Given the description of an element on the screen output the (x, y) to click on. 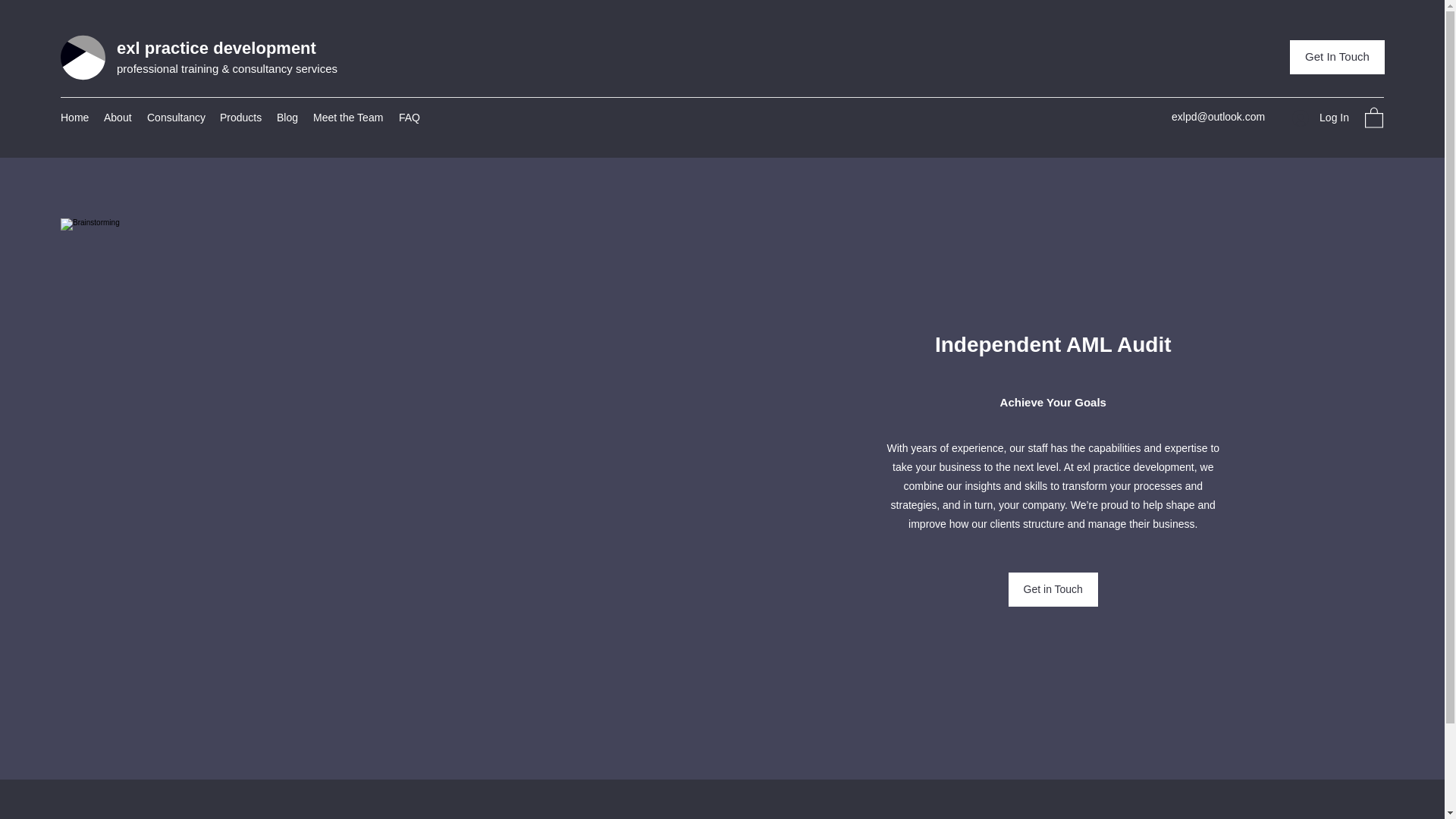
Home (74, 117)
exl practice development (215, 47)
Products (240, 117)
Get In Touch (1337, 57)
Meet the Team (348, 117)
Blog (287, 117)
About (117, 117)
Consultancy (175, 117)
FAQ (409, 117)
Get in Touch (1053, 589)
Log In (1320, 117)
